Given the description of an element on the screen output the (x, y) to click on. 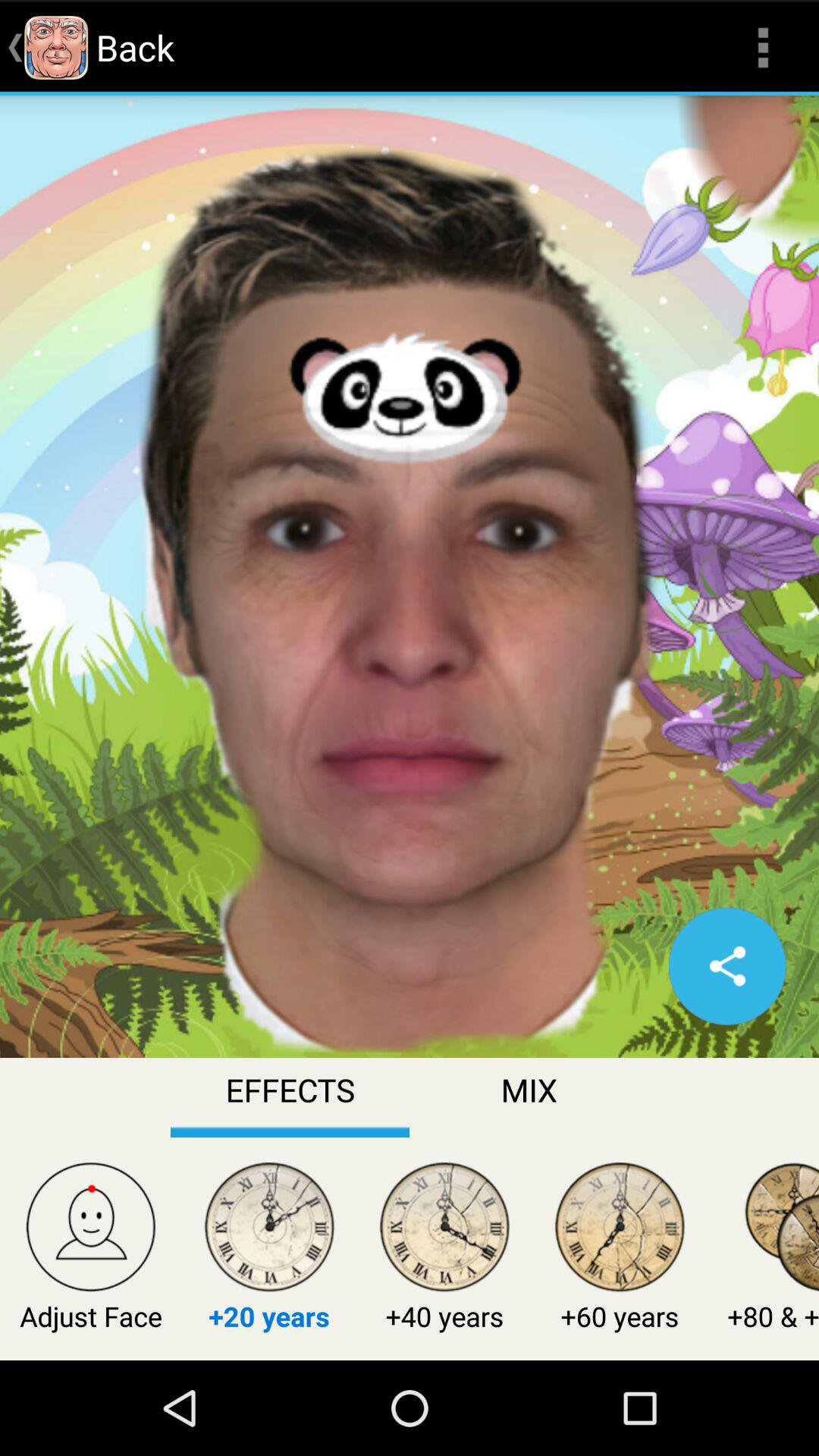
click on icon above adjust face (90, 1229)
click on the button left to mix (289, 1097)
select the clock which is above the 40 years (444, 1229)
select the clock which is above the 60 years (619, 1229)
click on the last icon at bottom right corner (780, 1229)
